Given the description of an element on the screen output the (x, y) to click on. 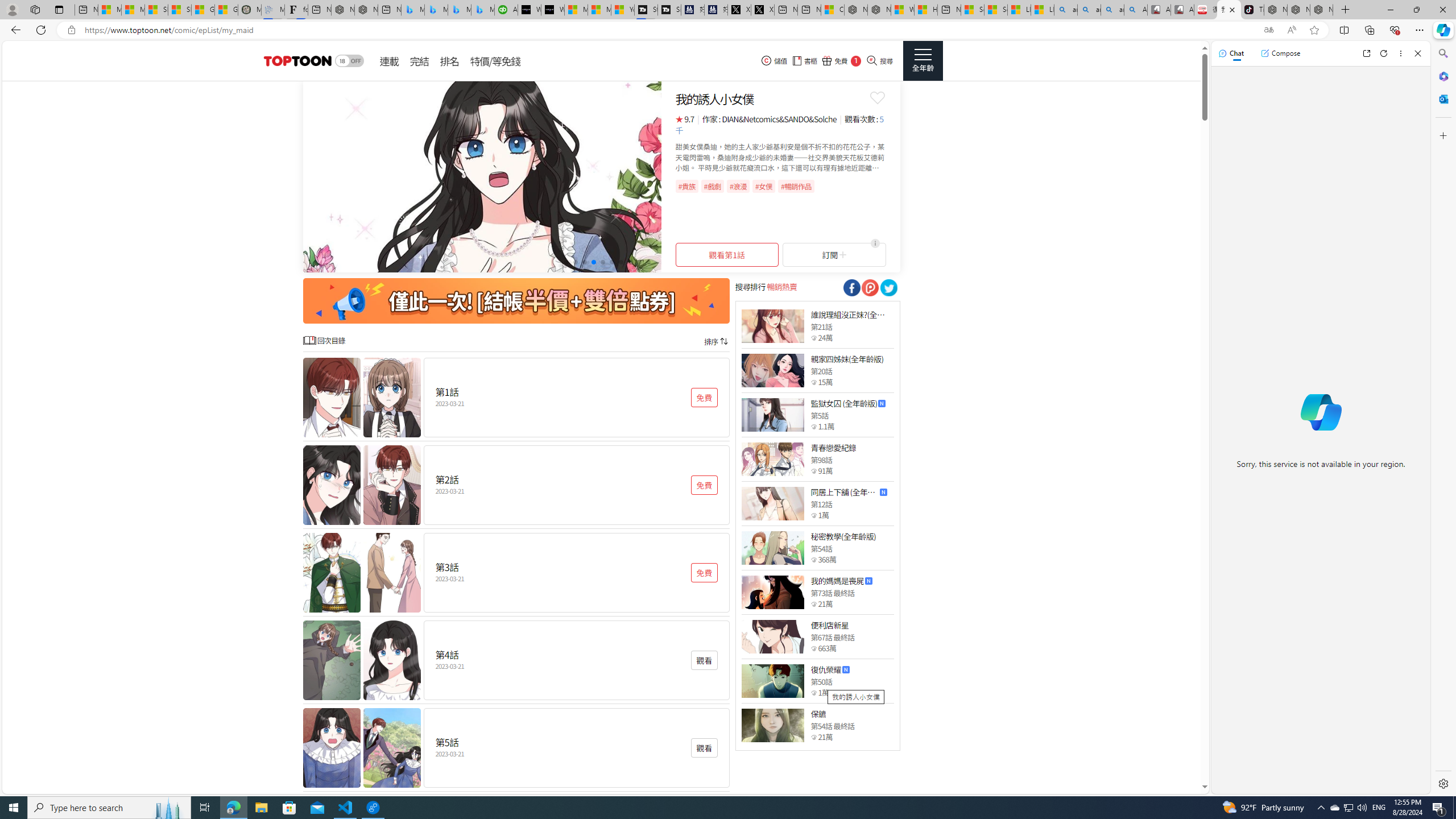
Class: swiper-slide (481, 176)
Open link in new tab (1366, 53)
Class: swiper-slide swiper-slide-prev (481, 176)
Accounting Software for Accountants, CPAs and Bookkeepers (505, 9)
Class: swiper-slide swiper-slide-next (481, 176)
